Given the description of an element on the screen output the (x, y) to click on. 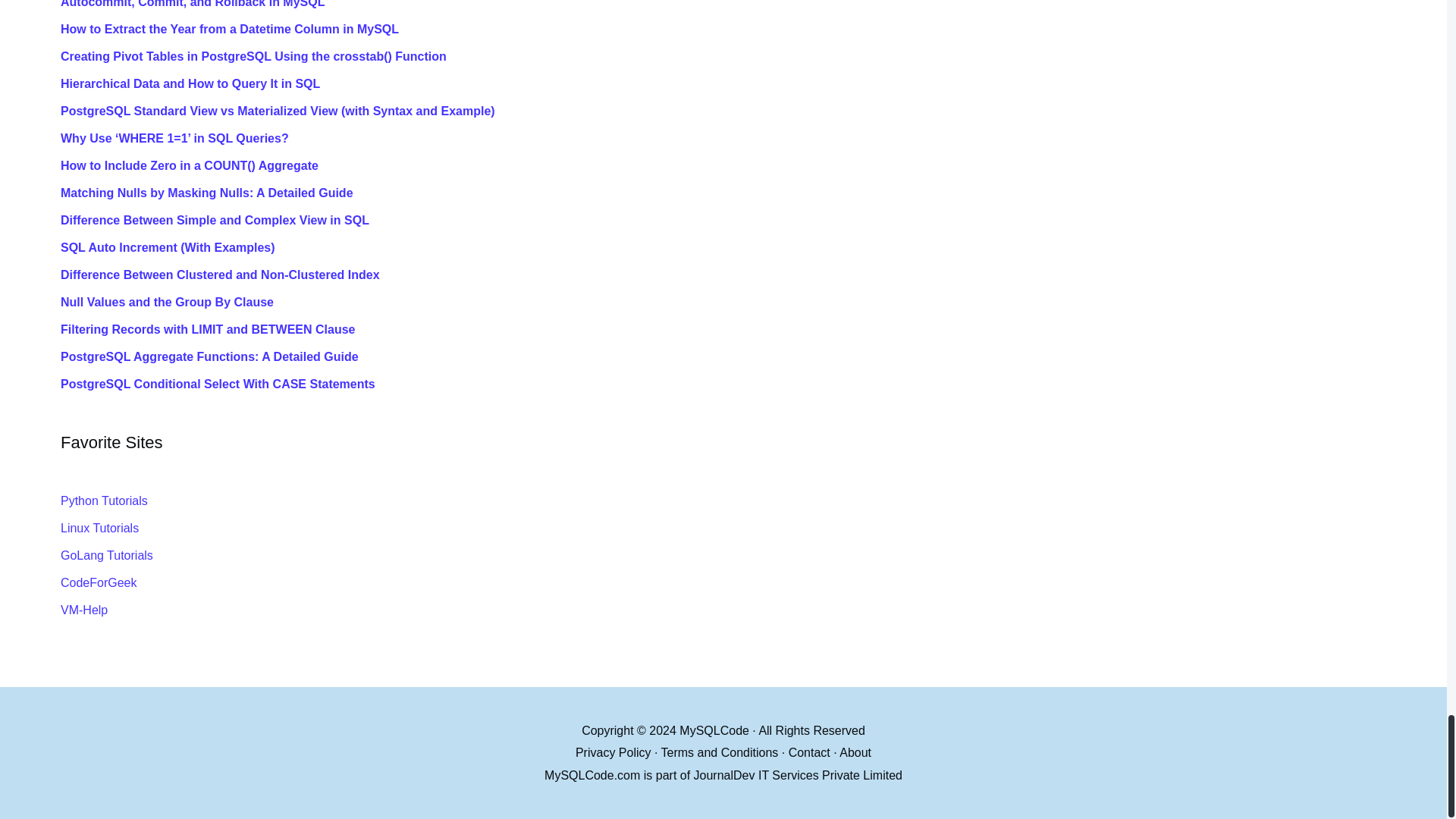
How to Extract the Year from a Datetime Column in MySQL (746, 29)
Python Tutorials (104, 500)
Contact (809, 752)
Null Values and the Group By Clause (746, 302)
PostgreSQL Conditional Select With CASE Statements (746, 384)
CodeForGeek (98, 582)
Privacy Policy (612, 752)
About (855, 752)
Hierarchical Data and How to Query It in SQL (746, 84)
GoLang Tutorials (106, 554)
